Given the description of an element on the screen output the (x, y) to click on. 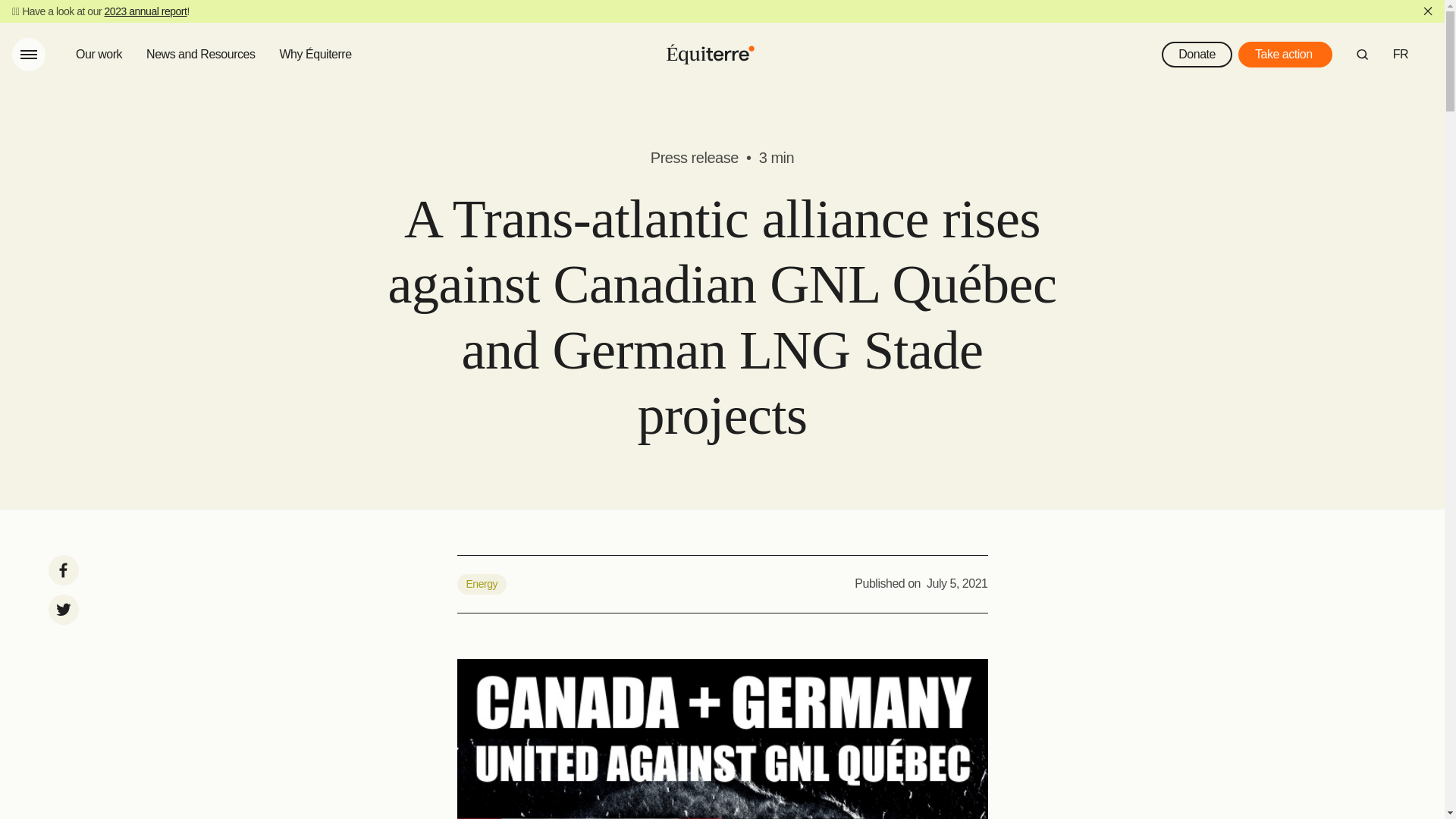
Energy (481, 584)
News and Resources (200, 54)
FR (1400, 54)
Our work (98, 54)
Search (1362, 54)
2023 annual report (145, 10)
Donate (1196, 54)
Share on Twitter (63, 609)
Share on Facebook (63, 570)
Take action (1285, 54)
